Given the description of an element on the screen output the (x, y) to click on. 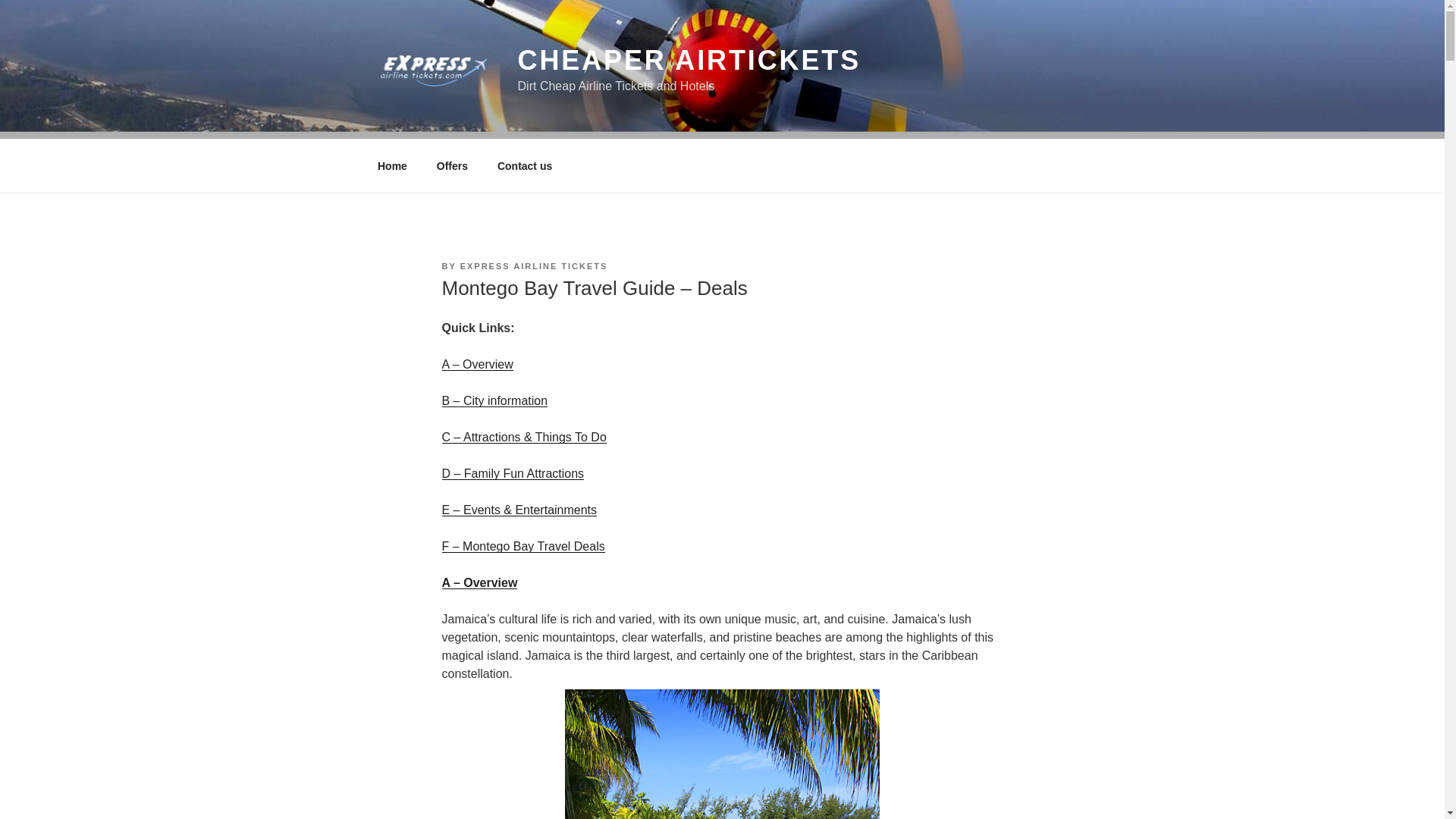
Home (392, 165)
city overview (476, 364)
events and entertainments (518, 509)
city information (494, 400)
Contact us (523, 165)
CHEAPER AIRTICKETS (689, 60)
family fun and attractions (512, 472)
EXPRESS AIRLINE TICKETS (534, 266)
montego bay overview (721, 754)
events and entertainments (522, 545)
